Given the description of an element on the screen output the (x, y) to click on. 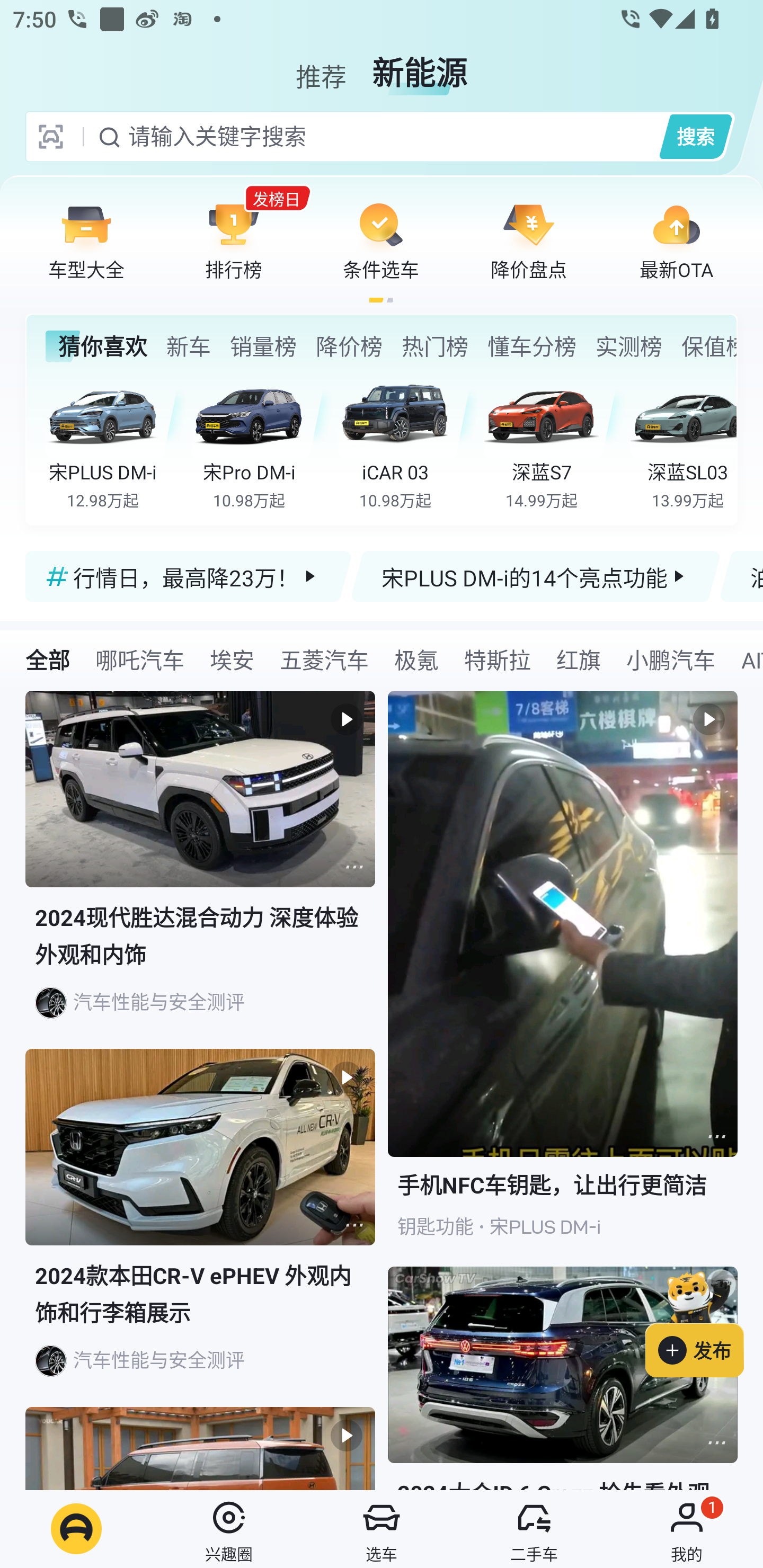
推荐 (321, 65)
新能源 (419, 65)
搜索 (695, 136)
车型大全 (86, 240)
发榜日 排行榜 (233, 240)
条件选车 (380, 240)
降价盘点 (528, 240)
最新OTA (676, 240)
猜你喜欢 (96, 346)
新车 (188, 346)
销量榜 (262, 346)
降价榜 (348, 346)
热门榜 (434, 346)
懂车分榜 (531, 346)
实测榜 (628, 346)
保值榜 (708, 346)
宋PLUS DM-i 12.98万起 (115, 442)
宋Pro DM-i 10.98万起 (261, 442)
iCAR 03 10.98万起 (407, 442)
深蓝S7 14.99万起 (554, 442)
深蓝SL03 13.99万起 (683, 442)
行情日，最高降23万！ (188, 576)
宋PLUS DM-i的14个亮点功能 (535, 576)
全部 (47, 659)
哪吒汽车 (139, 659)
埃安 (231, 659)
五菱汽车 (324, 659)
极氪 (416, 659)
特斯拉 (497, 659)
红旗 (578, 659)
小鹏汽车 (670, 659)
  2024现代胜达混合动力 深度体验外观和内饰 汽车性能与安全测评 (200, 869)
  手机NFC车钥匙，让出行更简洁 钥匙功能 宋PLUS DM-i (562, 978)
 (354, 867)
  2024款本田CR-V ePHEV 外观内饰和行李箱展示 汽车性能与安全测评 (200, 1227)
 (716, 1136)
宋PLUS DM-i (545, 1226)
 (354, 1224)
发布 (704, 1320)
  2024大众ID.6 Crozz 抢先看外观和内饰 (562, 1377)
 (716, 1442)
 兴趣圈 (228, 1528)
 选车 (381, 1528)
 二手车 (533, 1528)
 我的 (686, 1528)
